Given the description of an element on the screen output the (x, y) to click on. 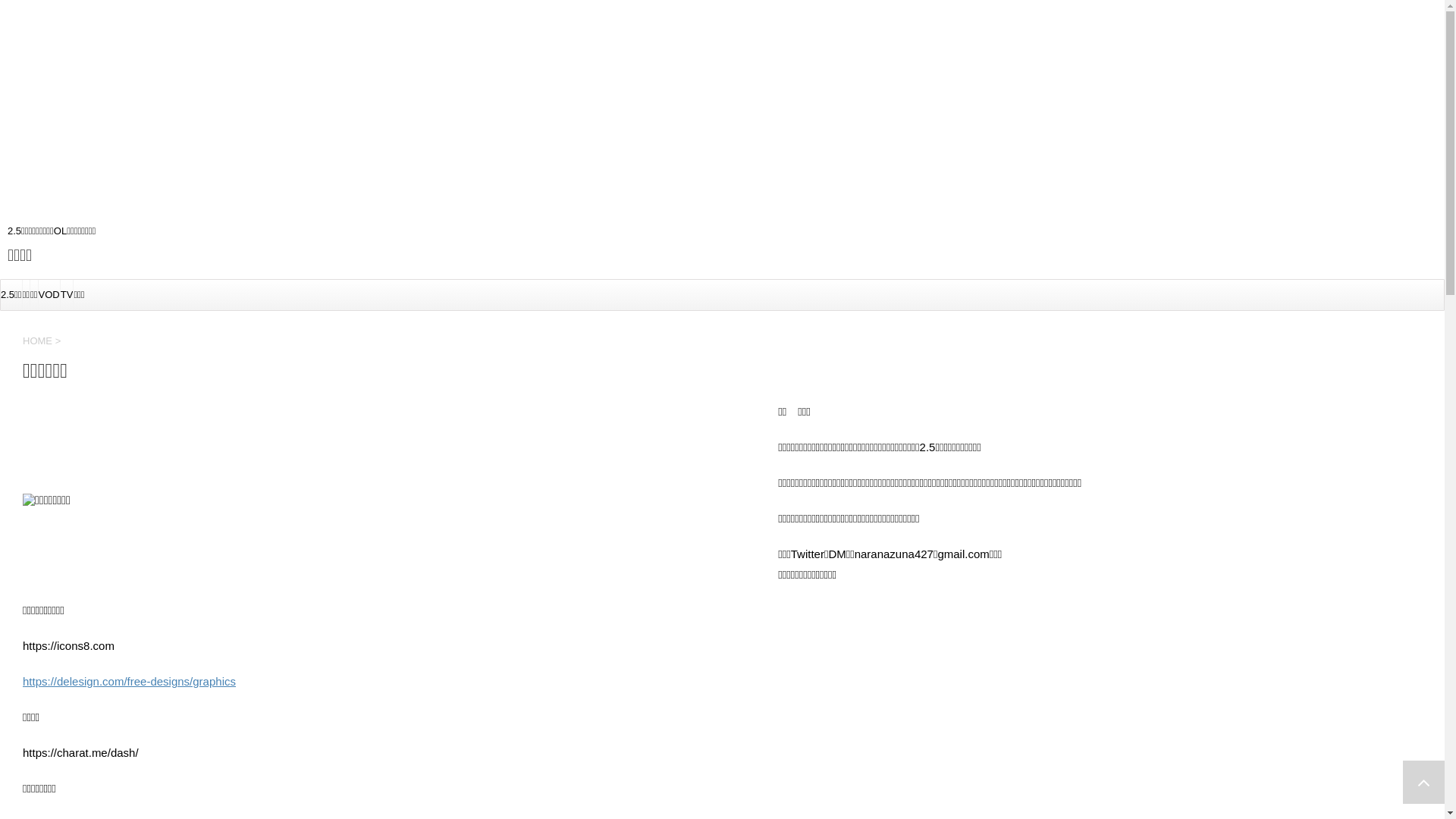
HOME Element type: text (38, 340)
TV Element type: text (66, 294)
Advertisement Element type: hover (455, 106)
https://delesign.com/free-designs/graphics Element type: text (128, 680)
VOD Element type: text (48, 294)
